Given the description of an element on the screen output the (x, y) to click on. 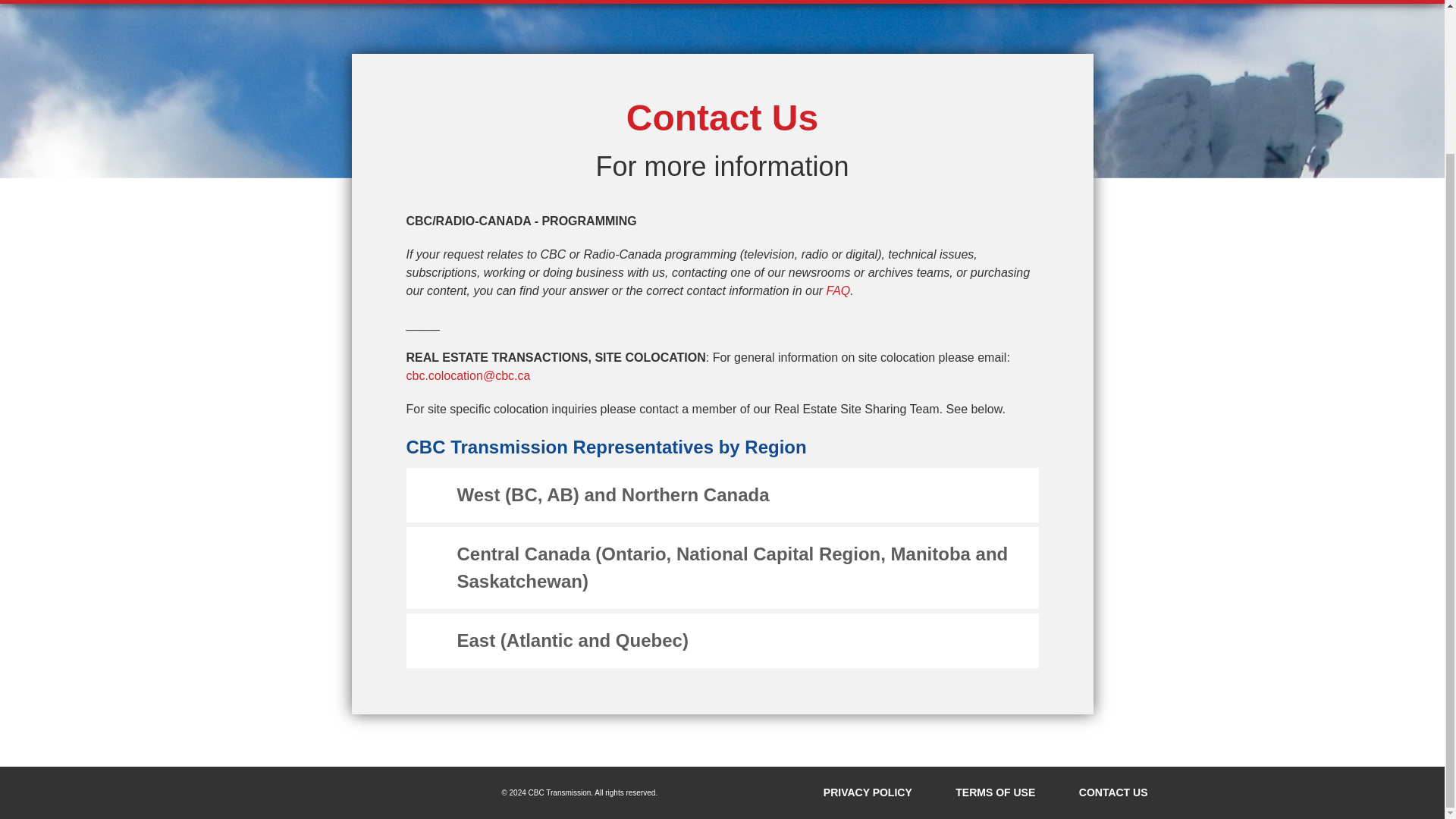
FAQ (838, 290)
CONTACT US (352, 2)
TERMS OF USE (1001, 792)
PRIVACY POLICY (874, 792)
CONTACT US (1113, 792)
CBC Radio-Canada (390, 792)
